Given the description of an element on the screen output the (x, y) to click on. 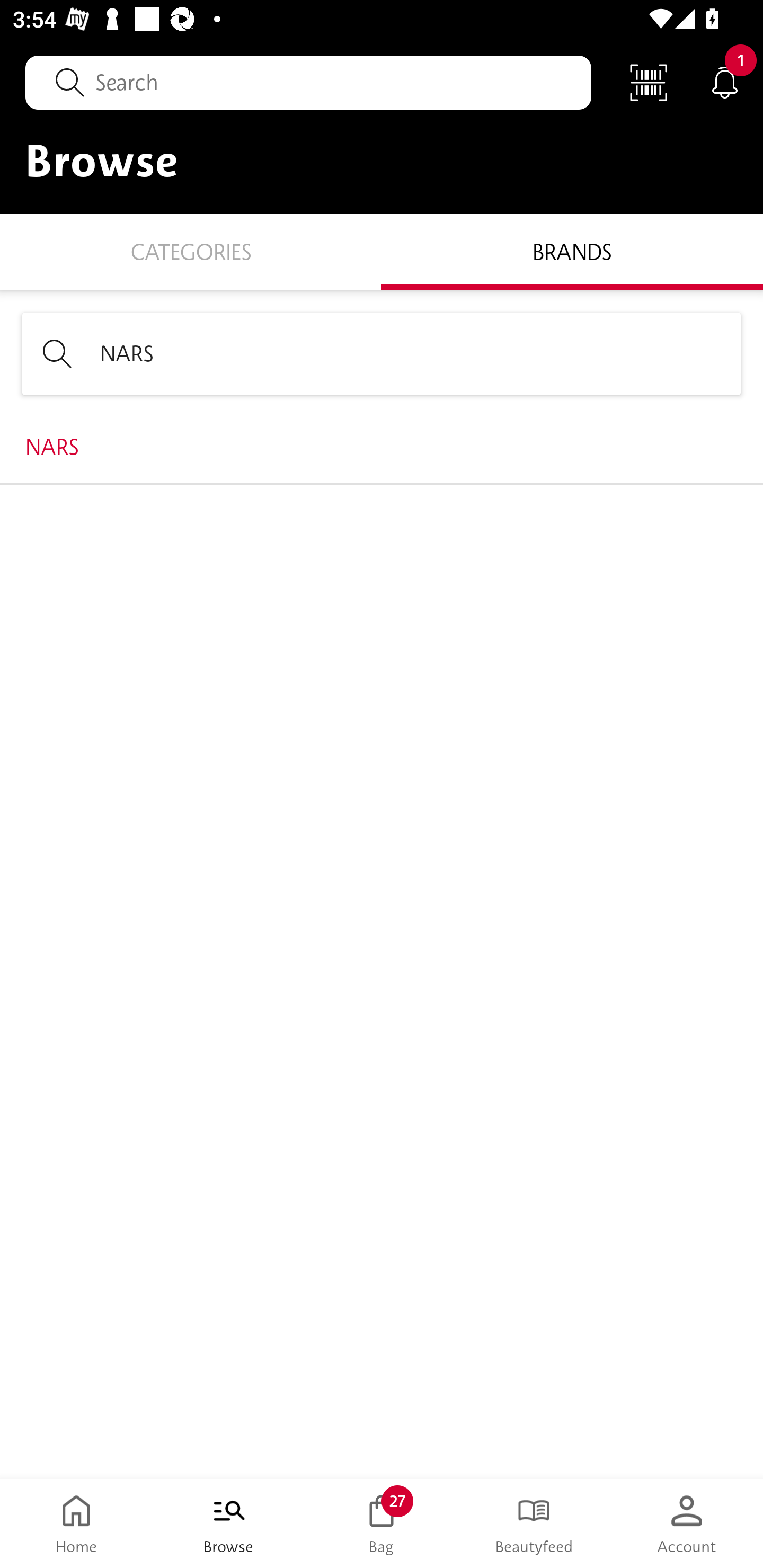
Scan Code (648, 81)
Notifications (724, 81)
Search (308, 81)
Categories CATEGORIES (190, 251)
NARS (381, 353)
NARS (381, 446)
Home (76, 1523)
Bag 27 Bag (381, 1523)
Beautyfeed (533, 1523)
Account (686, 1523)
